Given the description of an element on the screen output the (x, y) to click on. 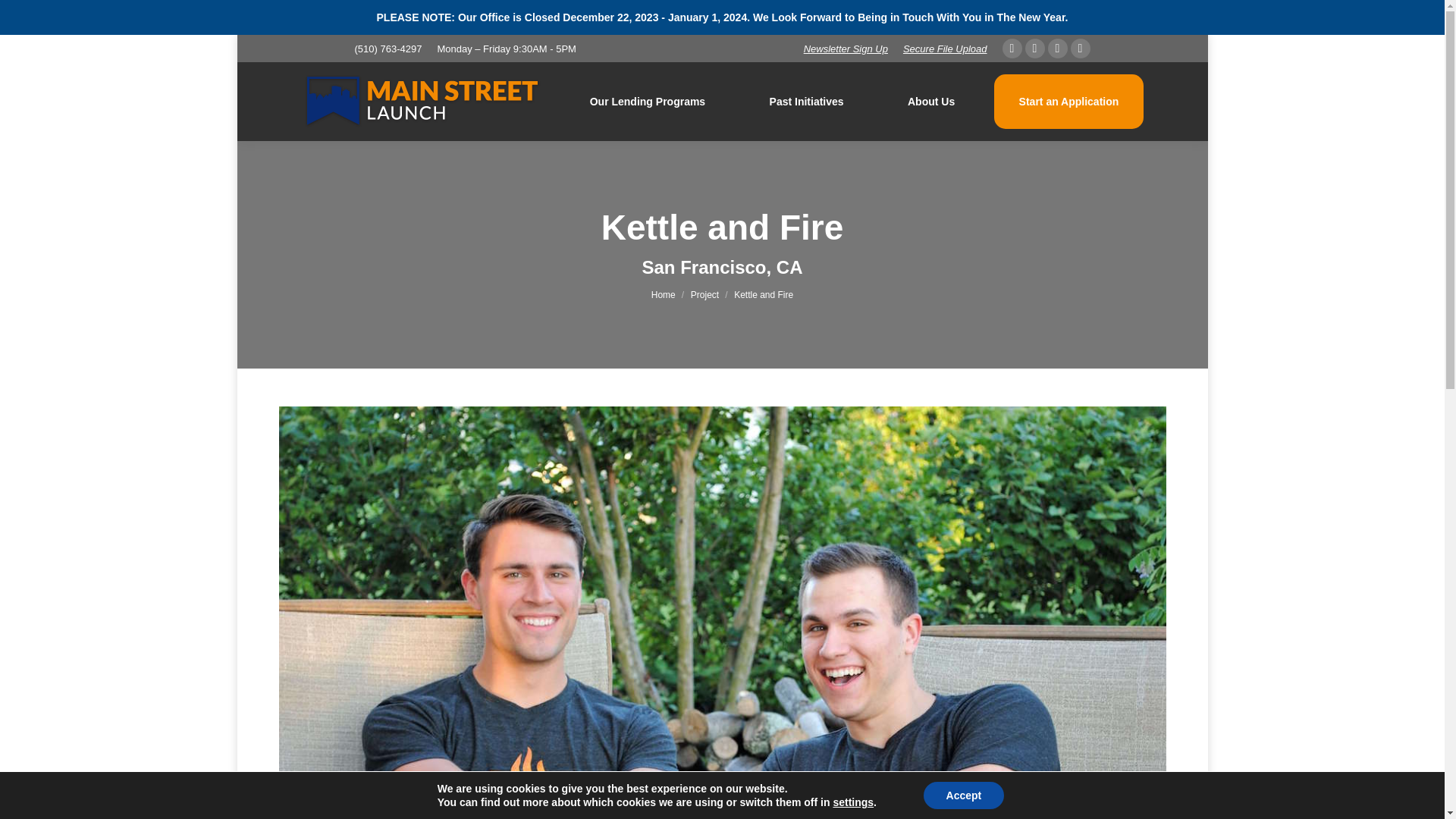
Home (662, 294)
Start an Application (1068, 101)
Past Initiatives (805, 101)
Go! (24, 16)
Newsletter Sign Up (845, 48)
About Us (931, 101)
Facebook page opens in new window (1012, 48)
Linkedin page opens in new window (1080, 48)
Project (704, 294)
Our Lending Programs (648, 101)
